Given the description of an element on the screen output the (x, y) to click on. 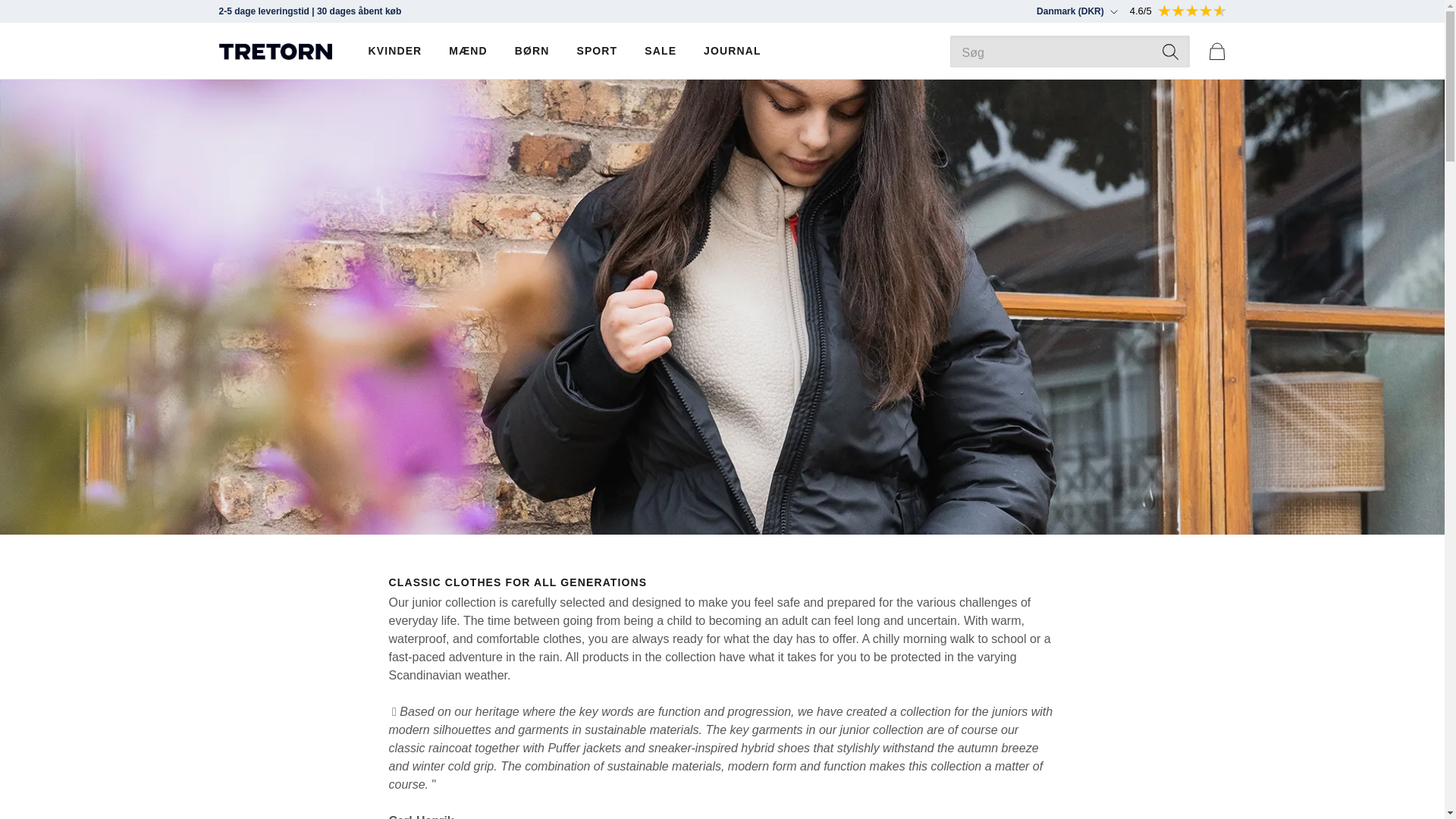
KVINDER (395, 50)
